Given the description of an element on the screen output the (x, y) to click on. 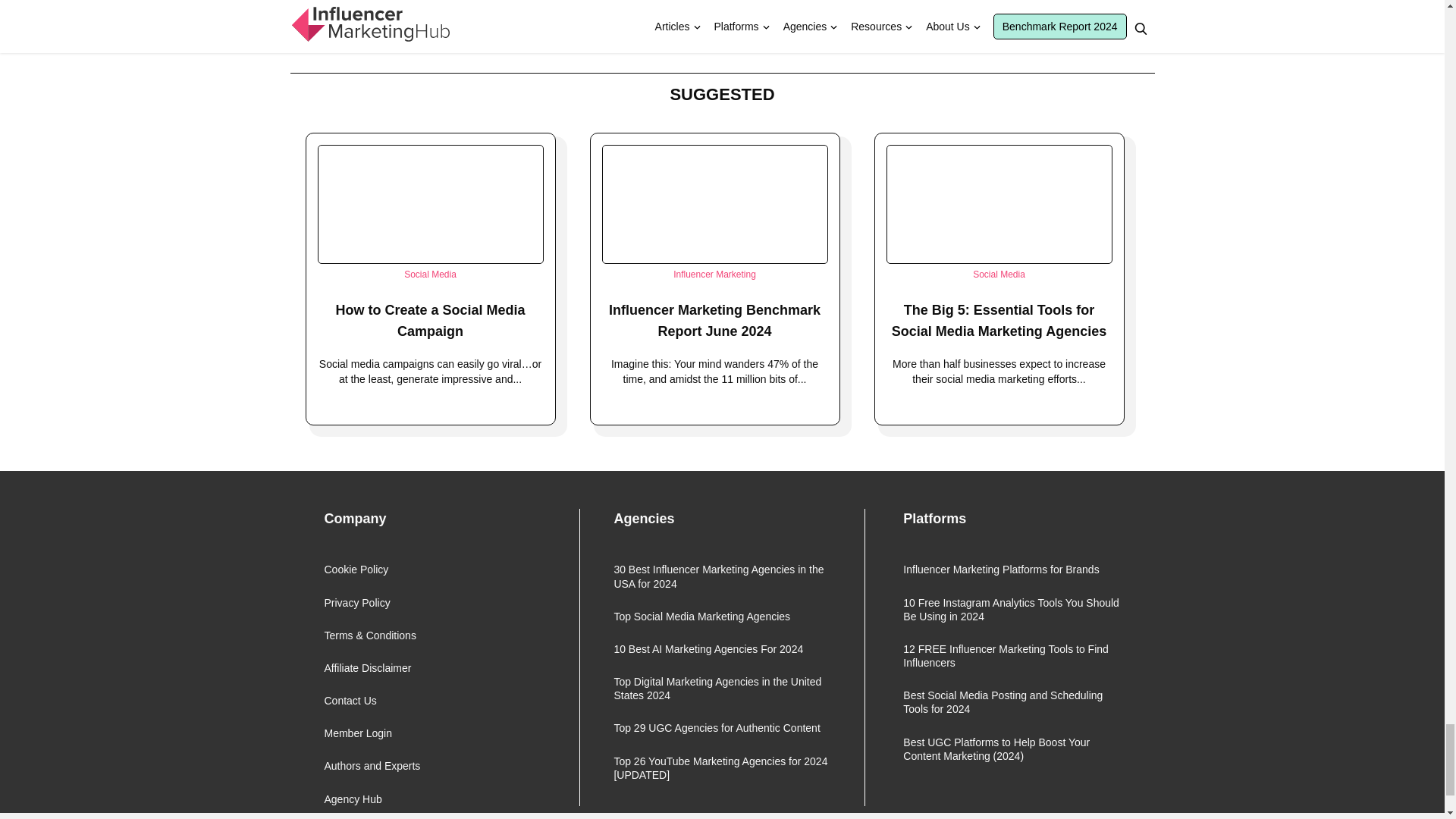
How to Create a Social Media Campaign (429, 320)
Influencer Marketing Benchmark Report June 2024 (714, 320)
